Given the description of an element on the screen output the (x, y) to click on. 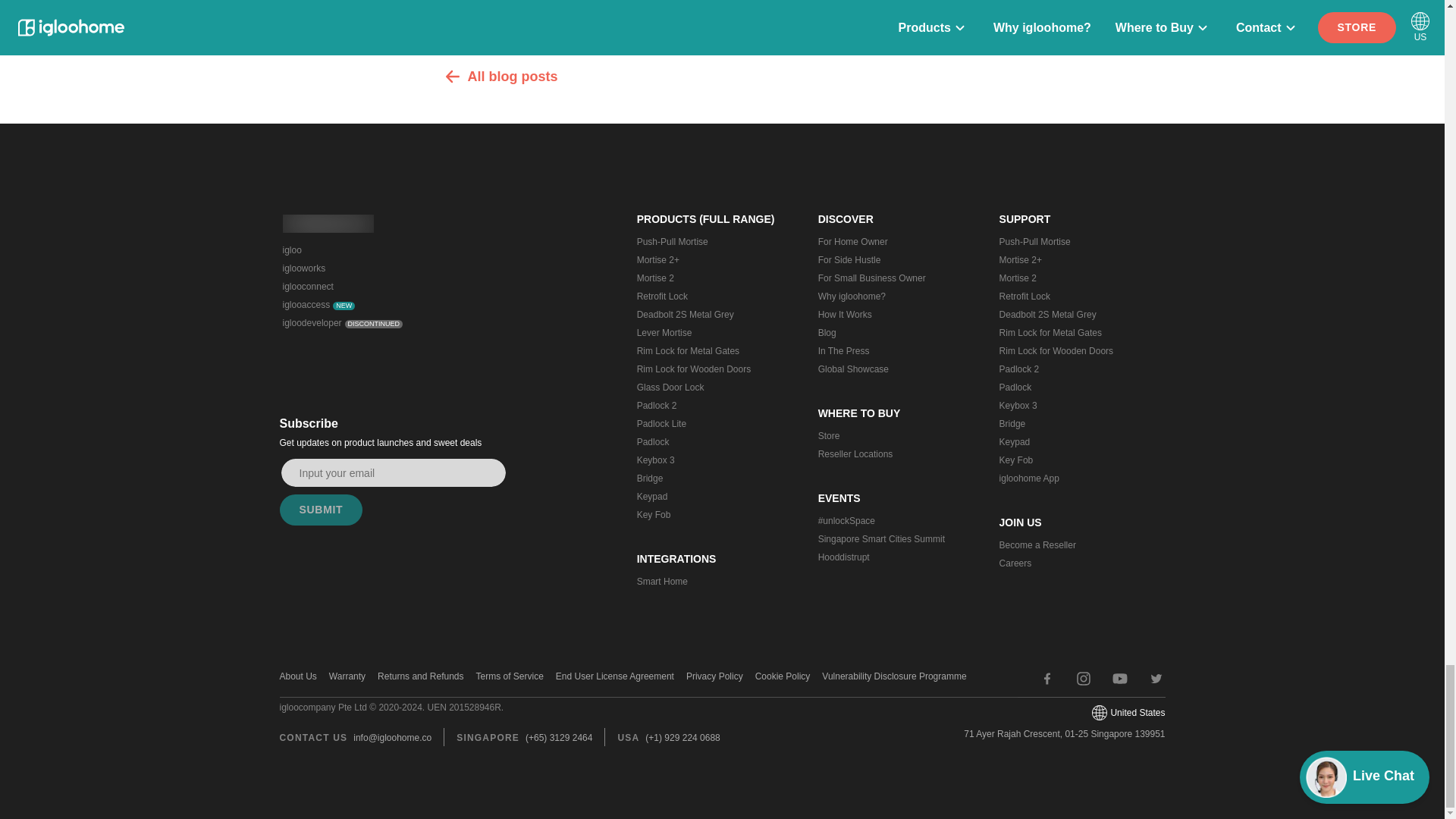
igloodeveloperDISCONTINUED (368, 322)
here (779, 19)
igloohome (327, 223)
All blog posts (721, 76)
iglooworks (368, 268)
iglooaccessNEW (368, 304)
igloo (368, 249)
Push-Pull Mortise (711, 241)
iglooconnect (368, 286)
